Given the description of an element on the screen output the (x, y) to click on. 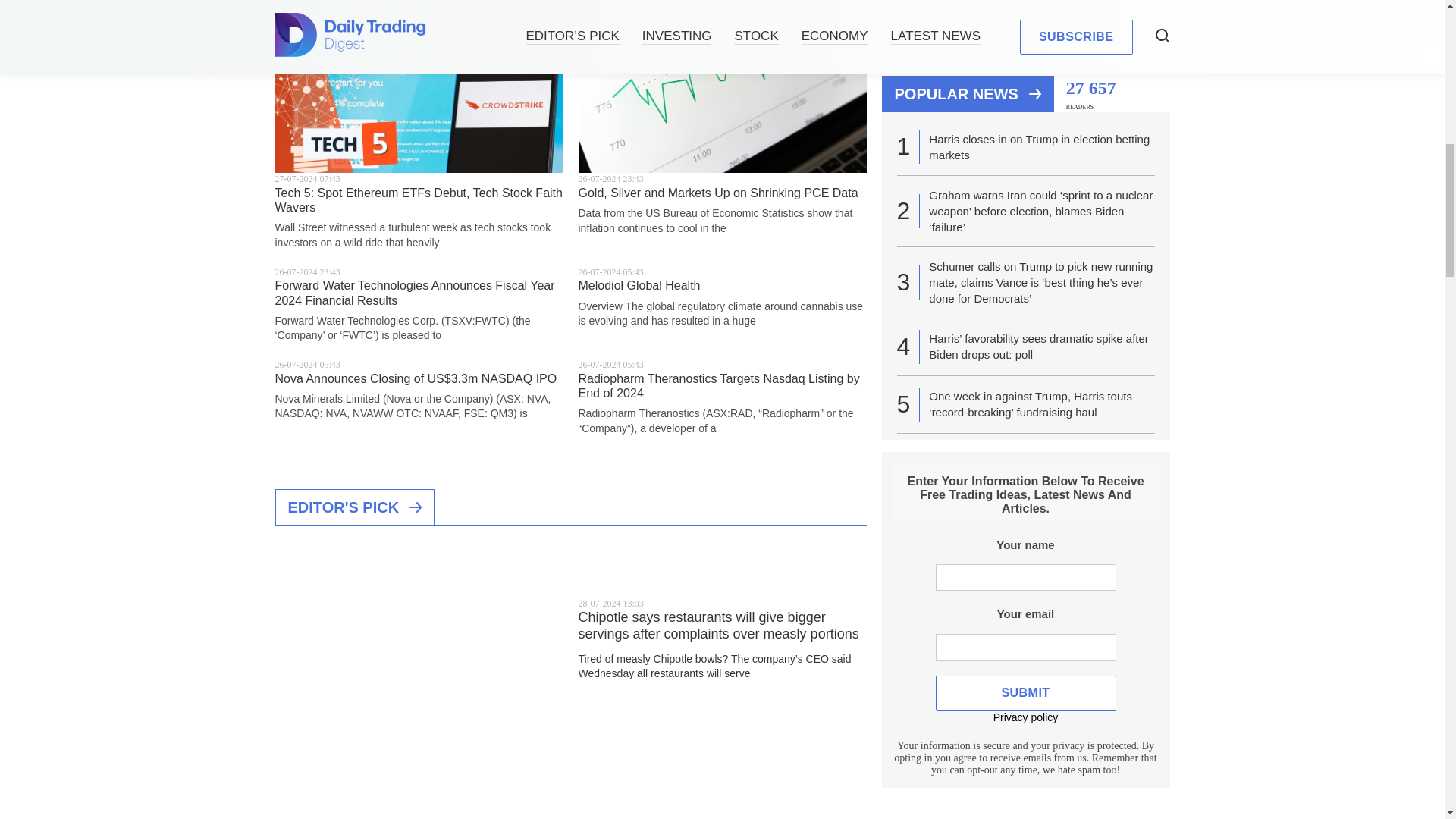
Submit (1026, 349)
